Given the description of an element on the screen output the (x, y) to click on. 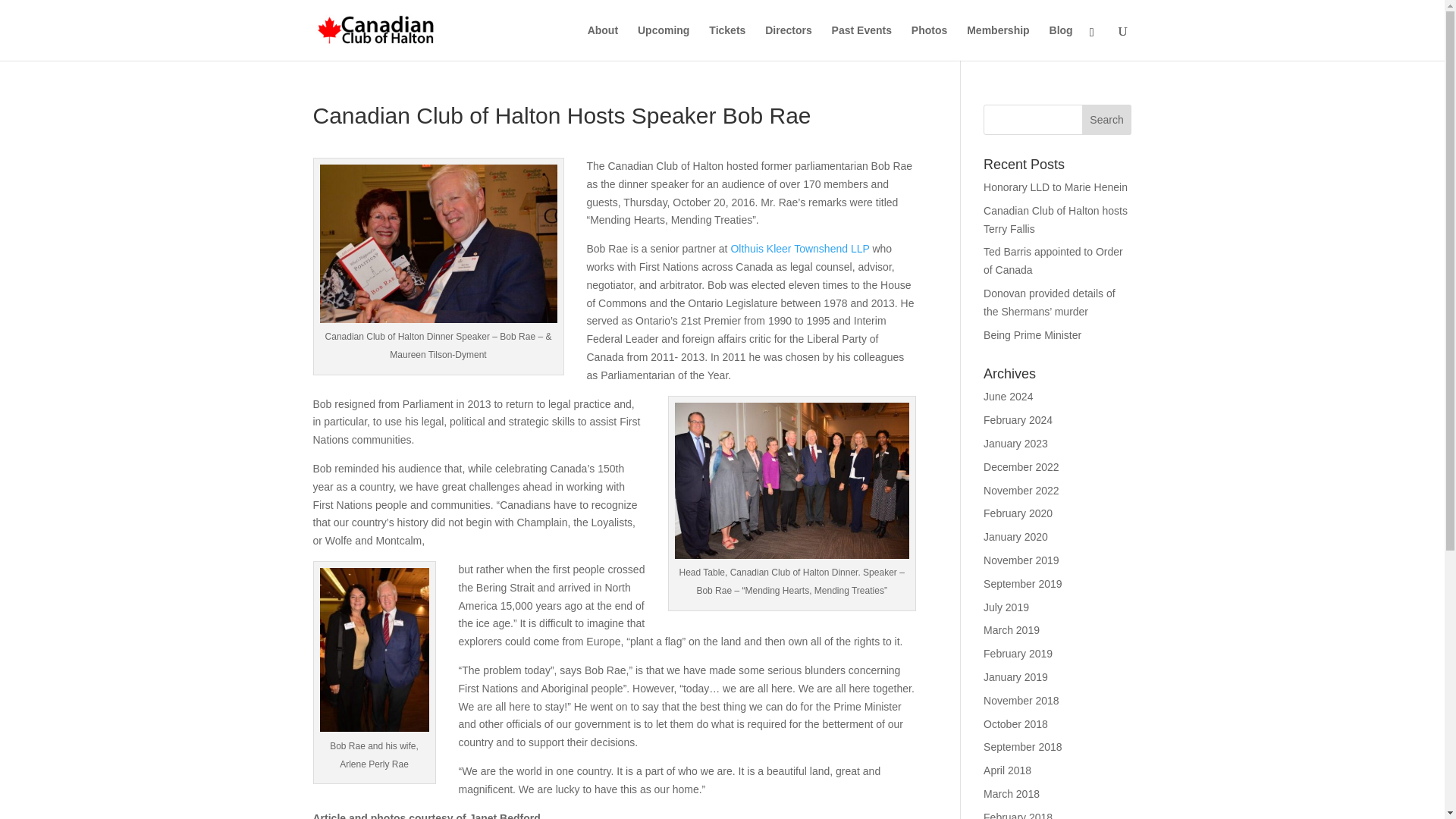
Directors (787, 42)
Being Prime Minister (1032, 335)
February 2020 (1018, 512)
July 2019 (1006, 607)
January 2023 (1016, 443)
January 2019 (1016, 676)
September 2019 (1023, 583)
Past Events (861, 42)
Canadian Club of Halton hosts Terry Fallis (1055, 219)
Olthuis Kleer Townshend LLP (799, 248)
Membership (997, 42)
January 2020 (1016, 536)
Search (1106, 119)
Search (1106, 119)
March 2019 (1011, 630)
